Given the description of an element on the screen output the (x, y) to click on. 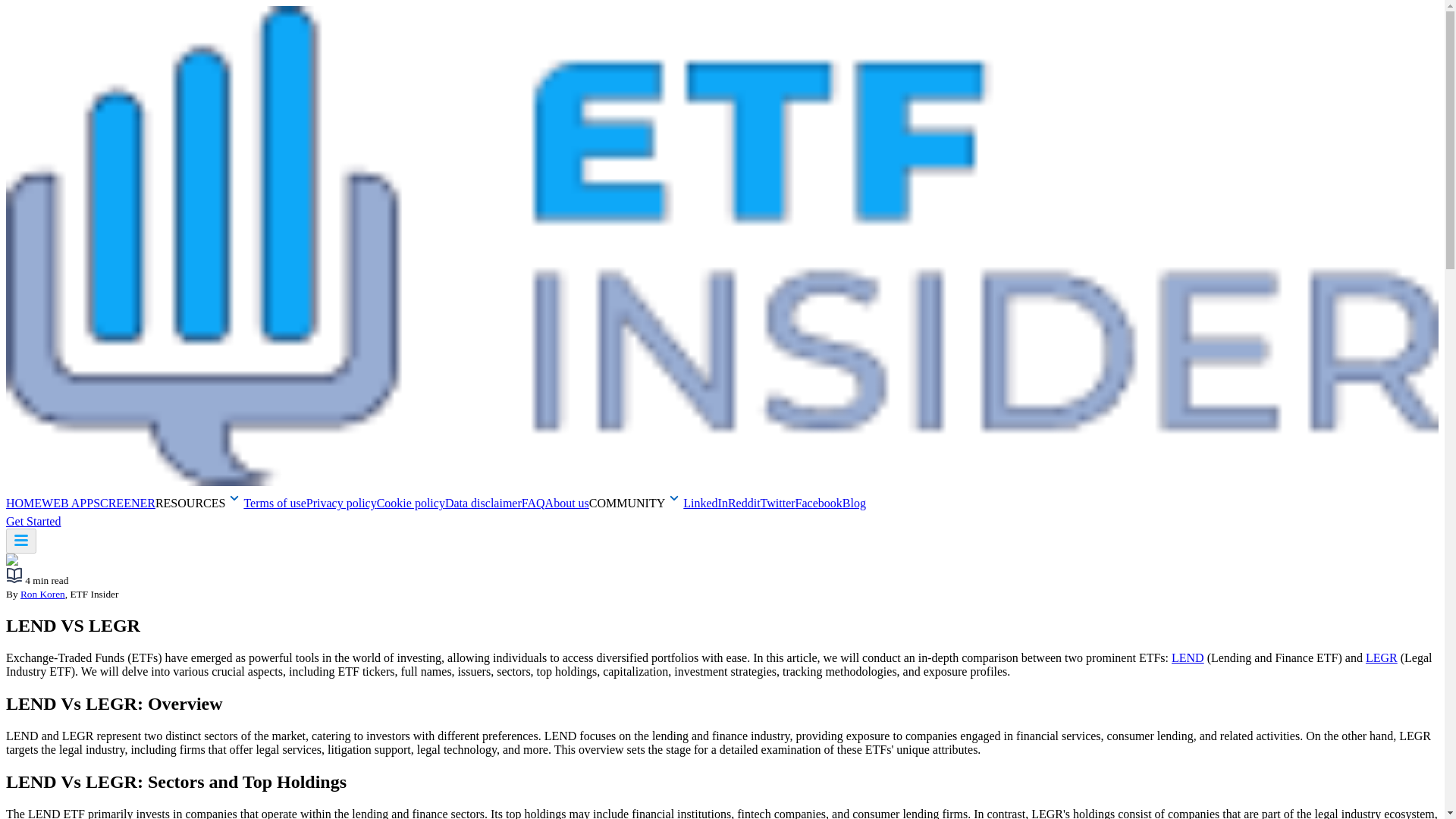
LinkedIn (705, 502)
Privacy policy (341, 502)
Blog (854, 502)
SCREENER (124, 502)
Data disclaimer (483, 502)
About us (566, 502)
Facebook (818, 502)
FAQ (532, 502)
LEND (1188, 657)
Get Started (40, 521)
WEB APP (67, 502)
HOME (23, 502)
Reddit (744, 502)
Cookie policy (411, 502)
Terms of use (274, 502)
